Given the description of an element on the screen output the (x, y) to click on. 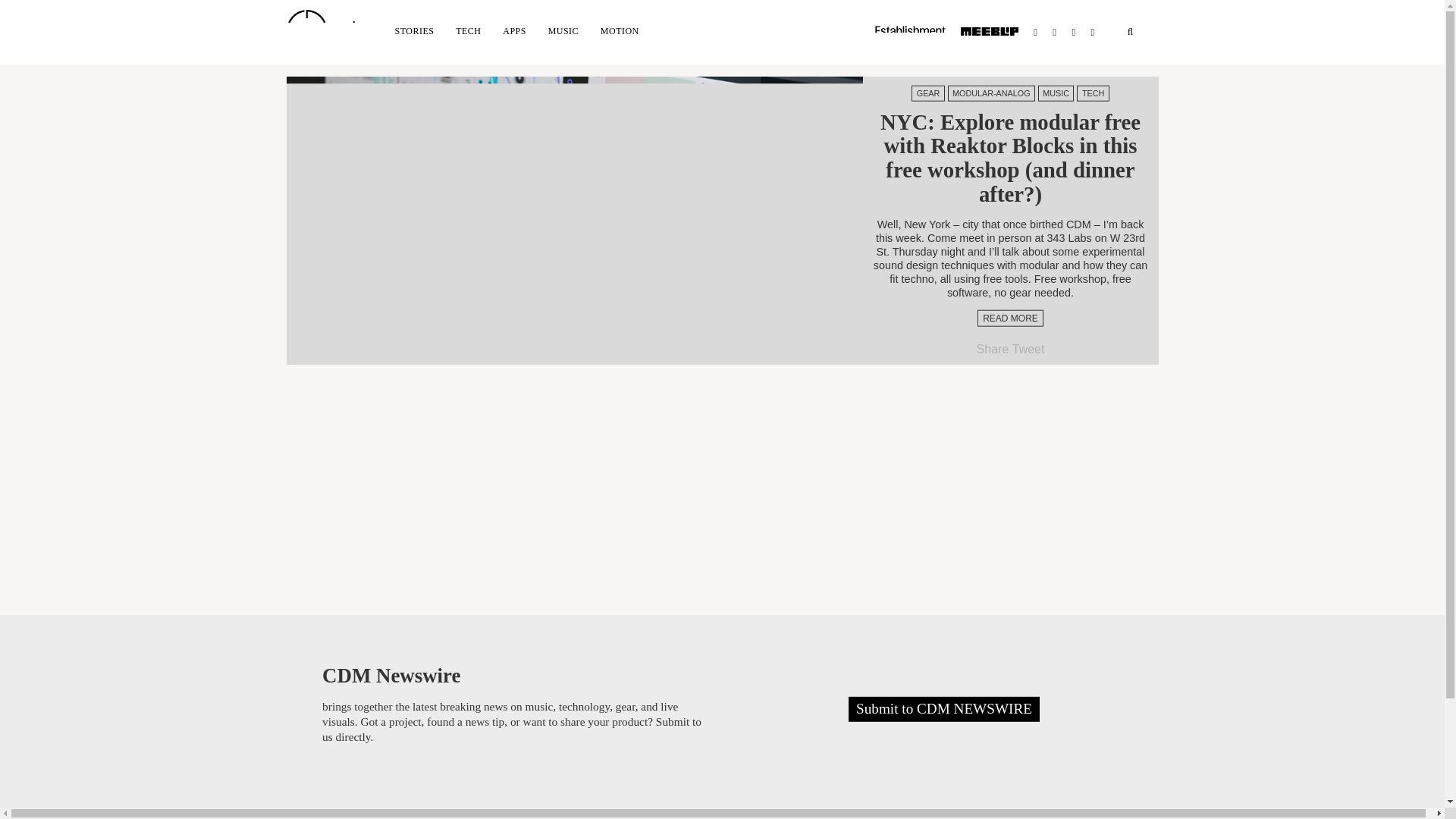
STORIES (414, 30)
Submit to CDM NEWSWIRE (943, 708)
Tweet (1028, 349)
search (1130, 32)
READ MORE (1009, 318)
TECH (1092, 92)
MOTION (619, 30)
MODULAR-ANALOG (991, 92)
MUSIC (1056, 92)
Share (992, 349)
